Given the description of an element on the screen output the (x, y) to click on. 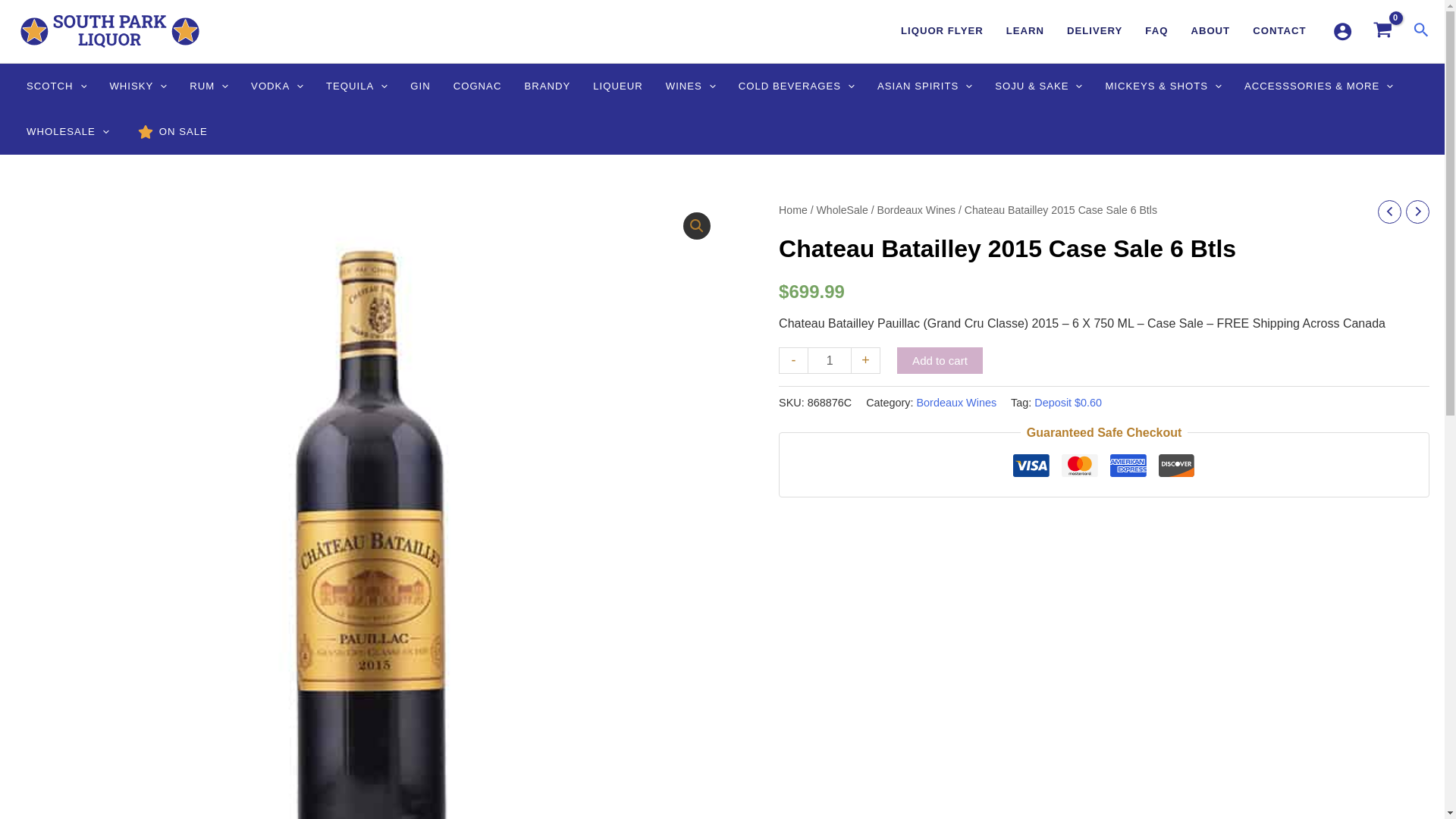
ABOUT (1210, 30)
VODKA (277, 85)
LIQUOR FLYER (941, 30)
LEARN (1024, 30)
CONTACT (1279, 30)
GIN (419, 85)
TEQUILA (356, 85)
RUM (208, 85)
DELIVERY (1094, 30)
1 (829, 360)
